Given the description of an element on the screen output the (x, y) to click on. 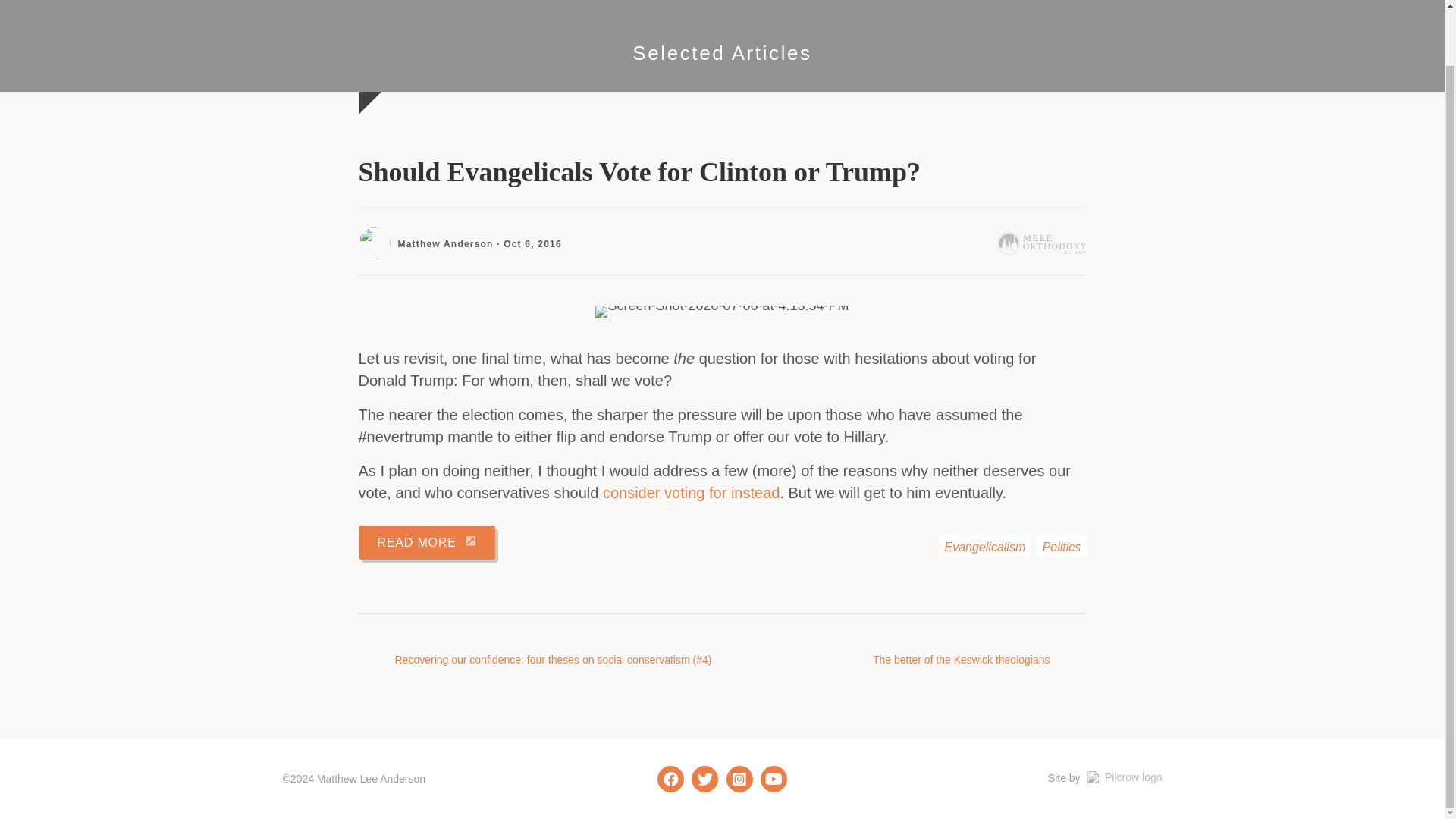
Evangelicalism (984, 545)
Politics (1061, 545)
consider voting for instead (690, 492)
The better of the Keswick theologians (979, 659)
Selected Articles (720, 52)
READ MORE (426, 542)
Screen-Shot-2020-07-06-at-4.13.54-PM (721, 311)
